Given the description of an element on the screen output the (x, y) to click on. 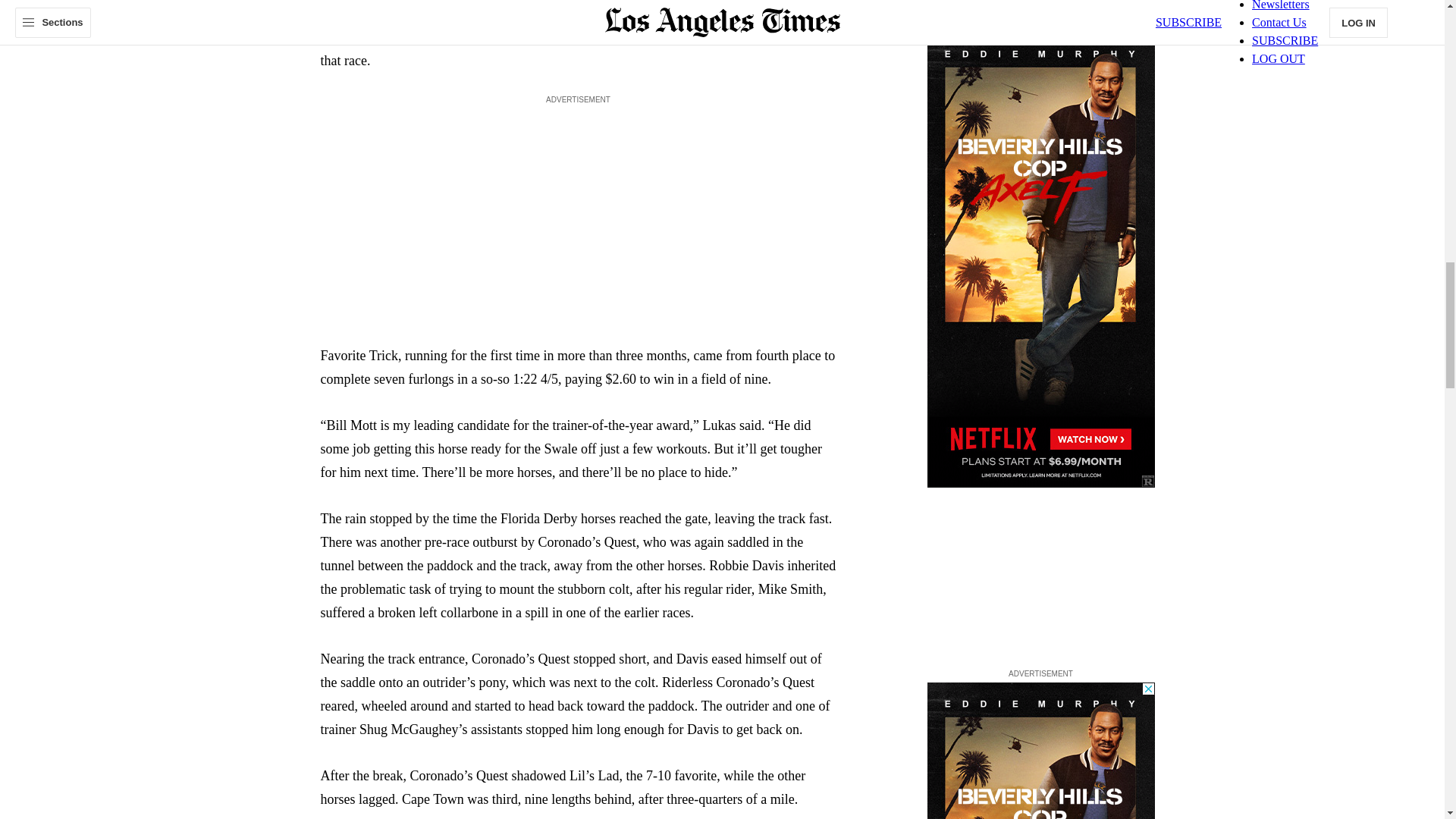
3rd party ad content (1040, 750)
